Given the description of an element on the screen output the (x, y) to click on. 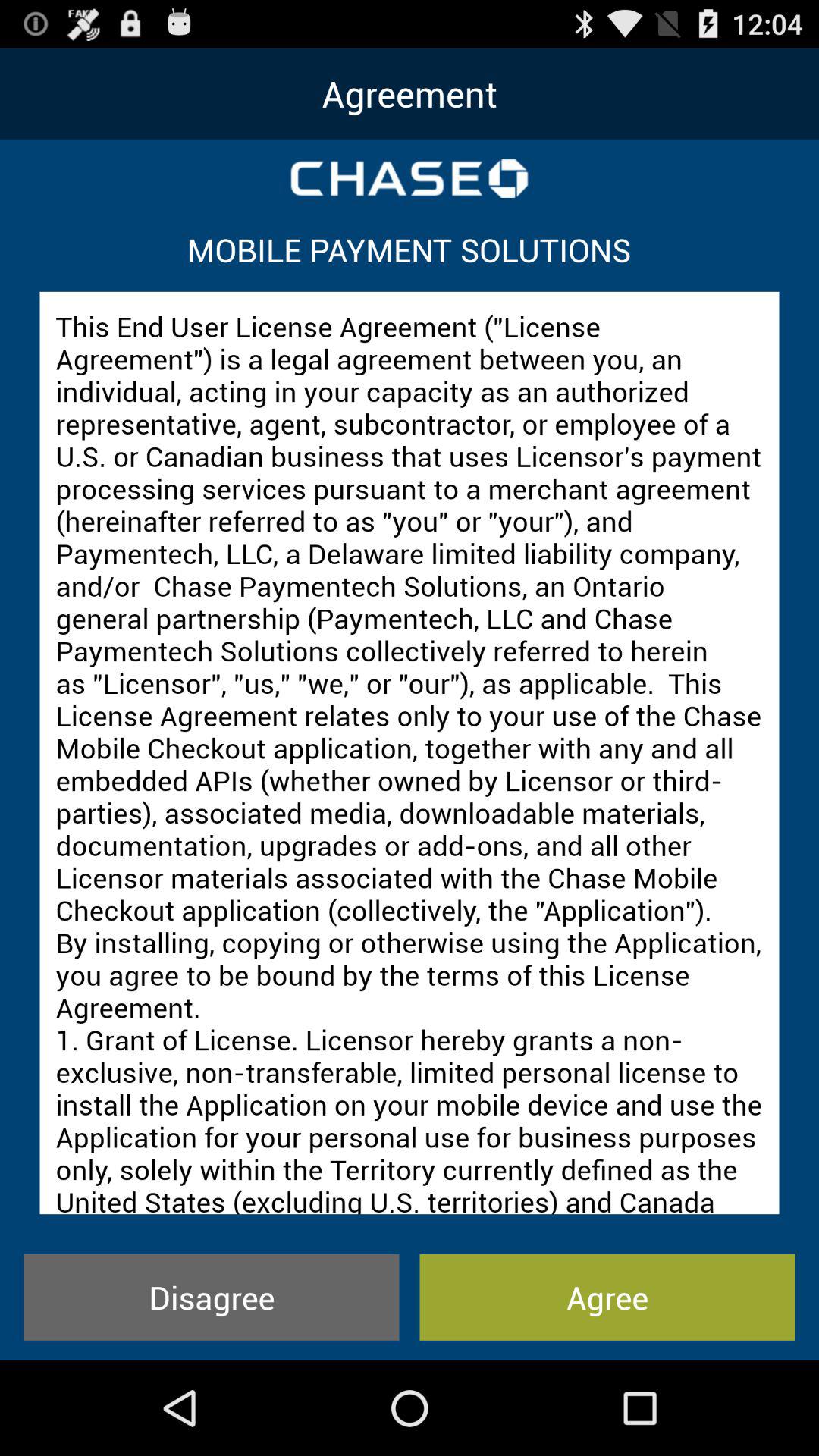
turn off the disagree item (211, 1297)
